Given the description of an element on the screen output the (x, y) to click on. 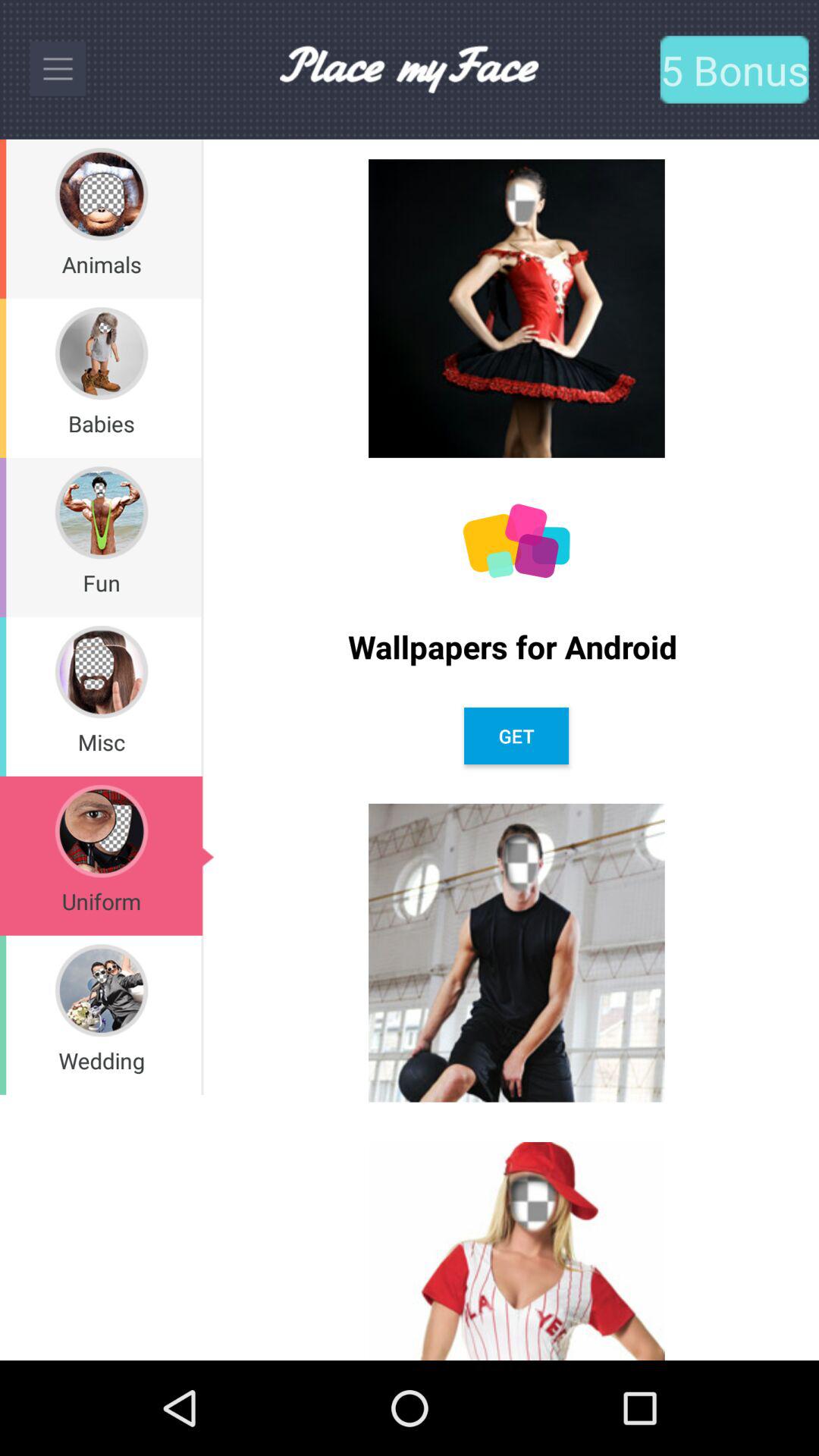
turn off the wallpapers for android  icon (516, 646)
